Given the description of an element on the screen output the (x, y) to click on. 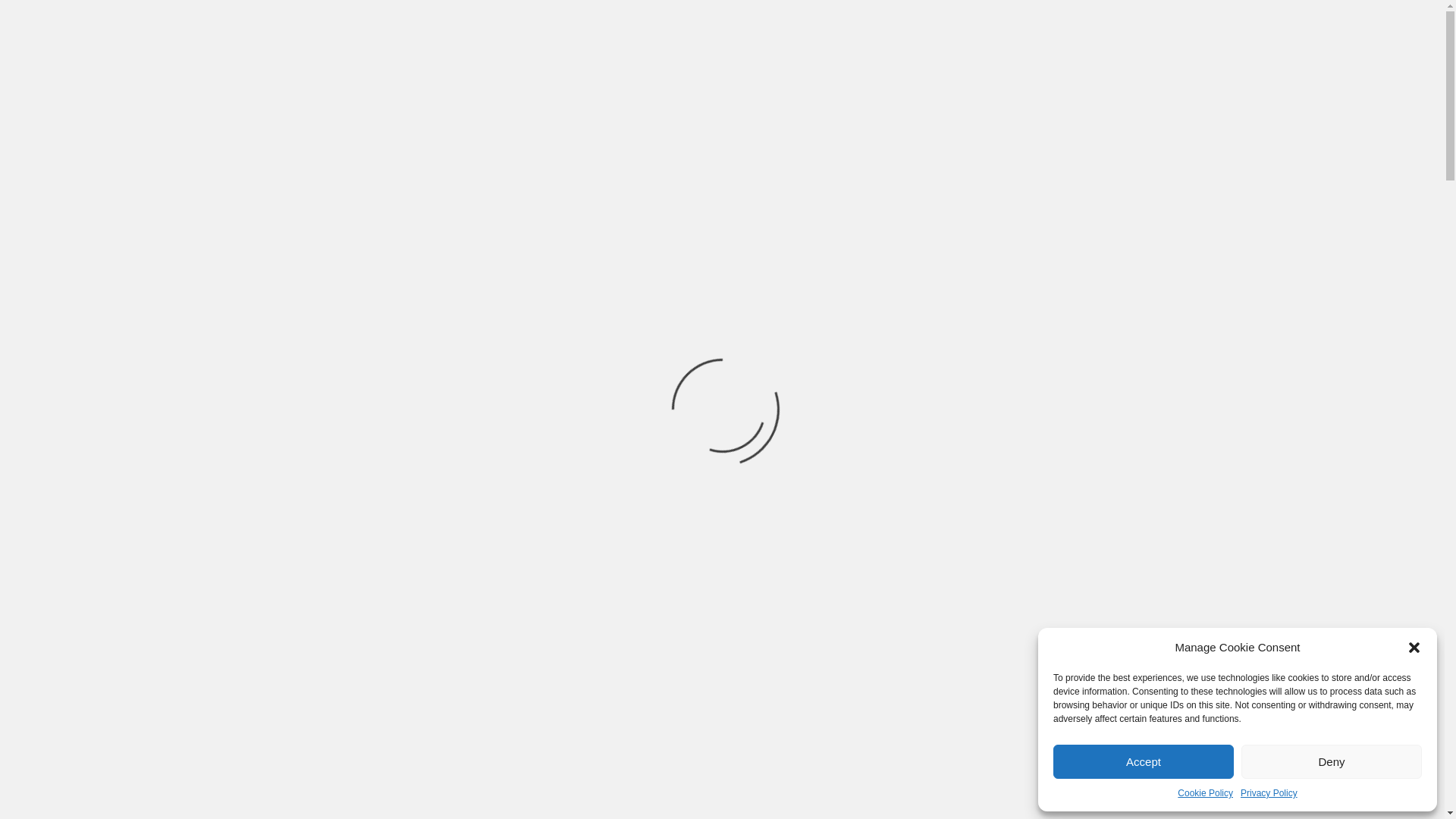
CONTACT (988, 285)
Privacy Policy (1268, 793)
HOME (442, 285)
TERMS AND CONDITIONS (245, 340)
TRASHY DIVORCES (505, 128)
SPONSORS (667, 285)
Deny (1331, 761)
ABOUT (581, 285)
HOME (155, 340)
MERCH (753, 285)
